Given the description of an element on the screen output the (x, y) to click on. 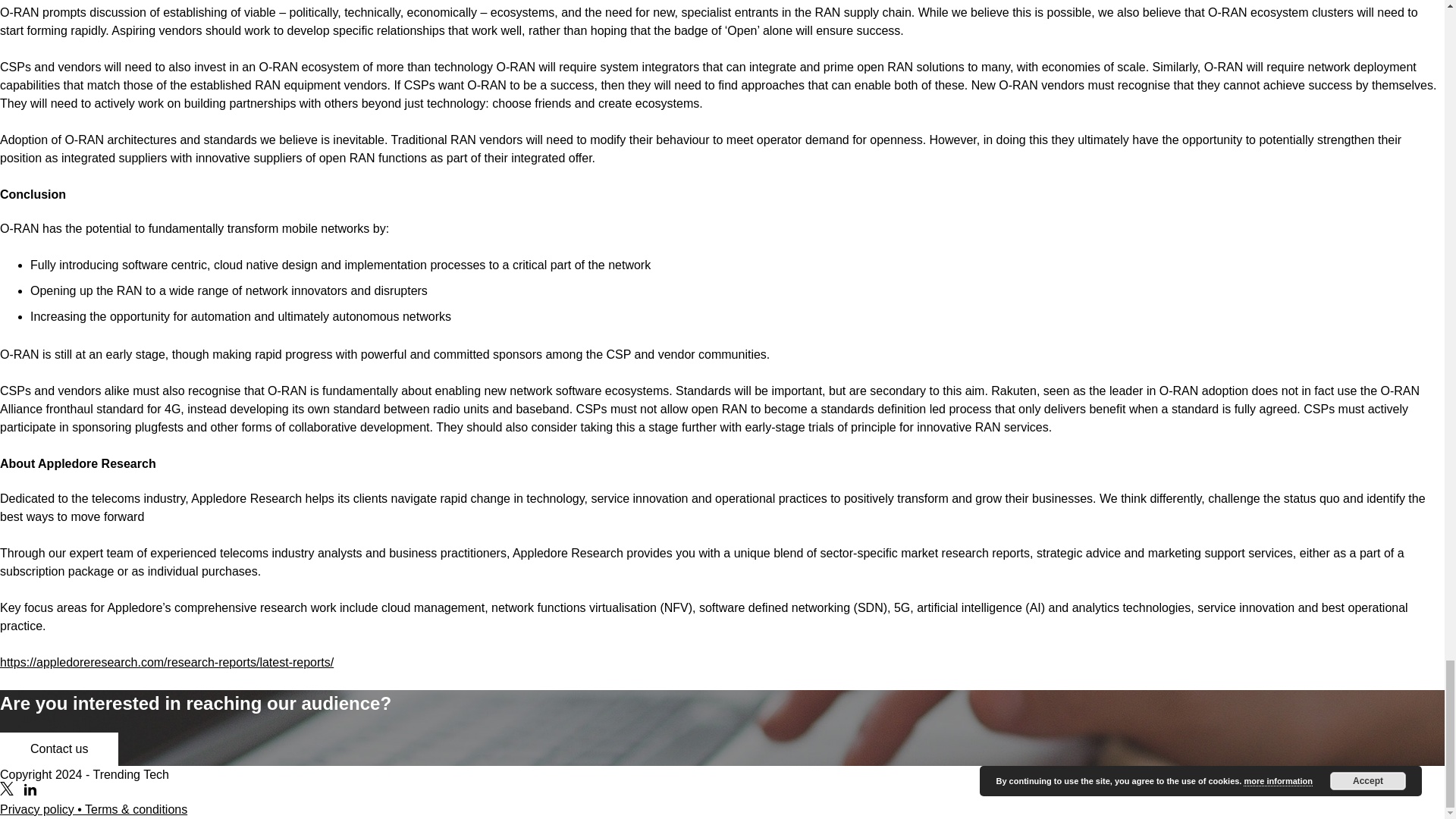
Contact us (58, 748)
